Given the description of an element on the screen output the (x, y) to click on. 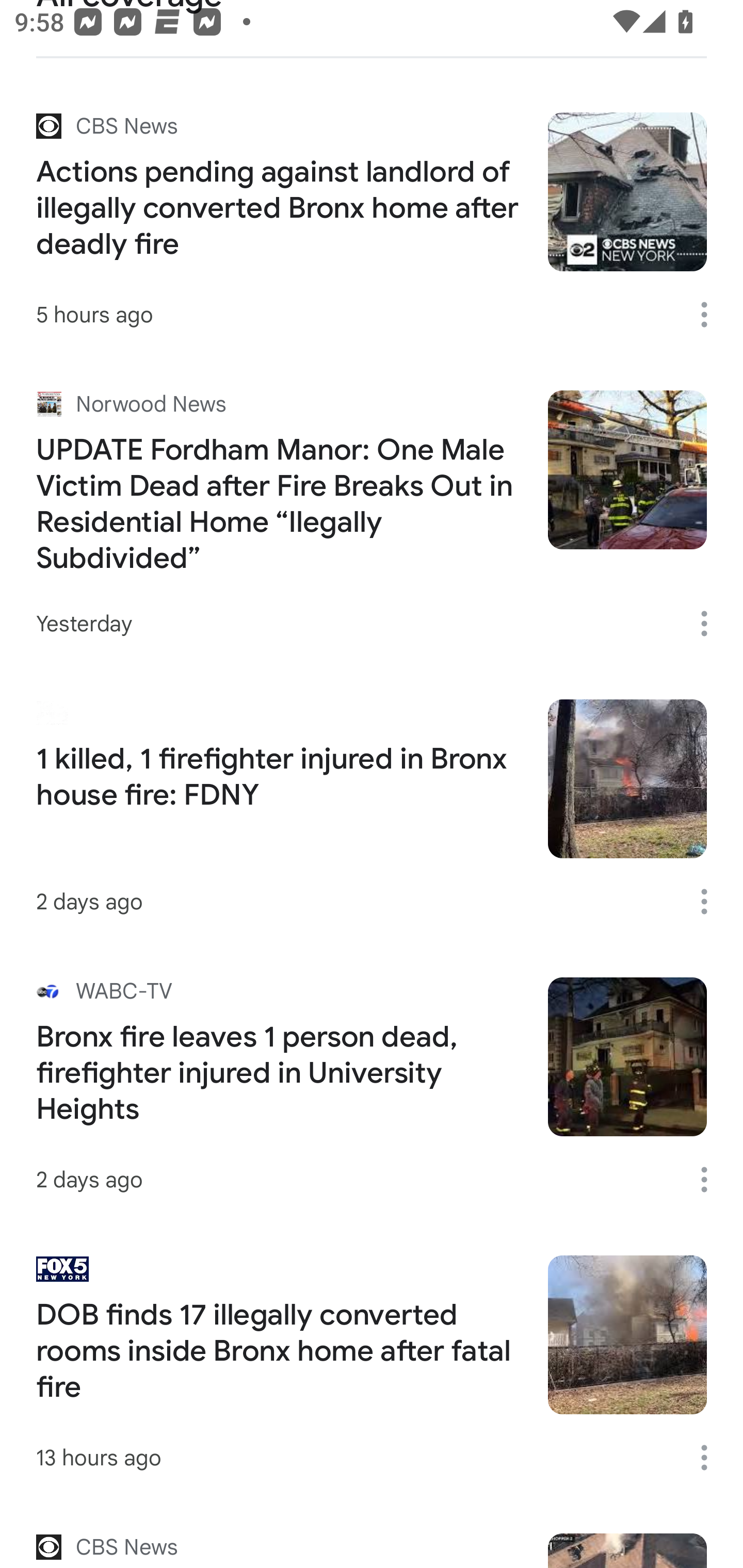
More options (711, 314)
More options (711, 623)
More options (711, 901)
More options (711, 1179)
More options (711, 1457)
